Given the description of an element on the screen output the (x, y) to click on. 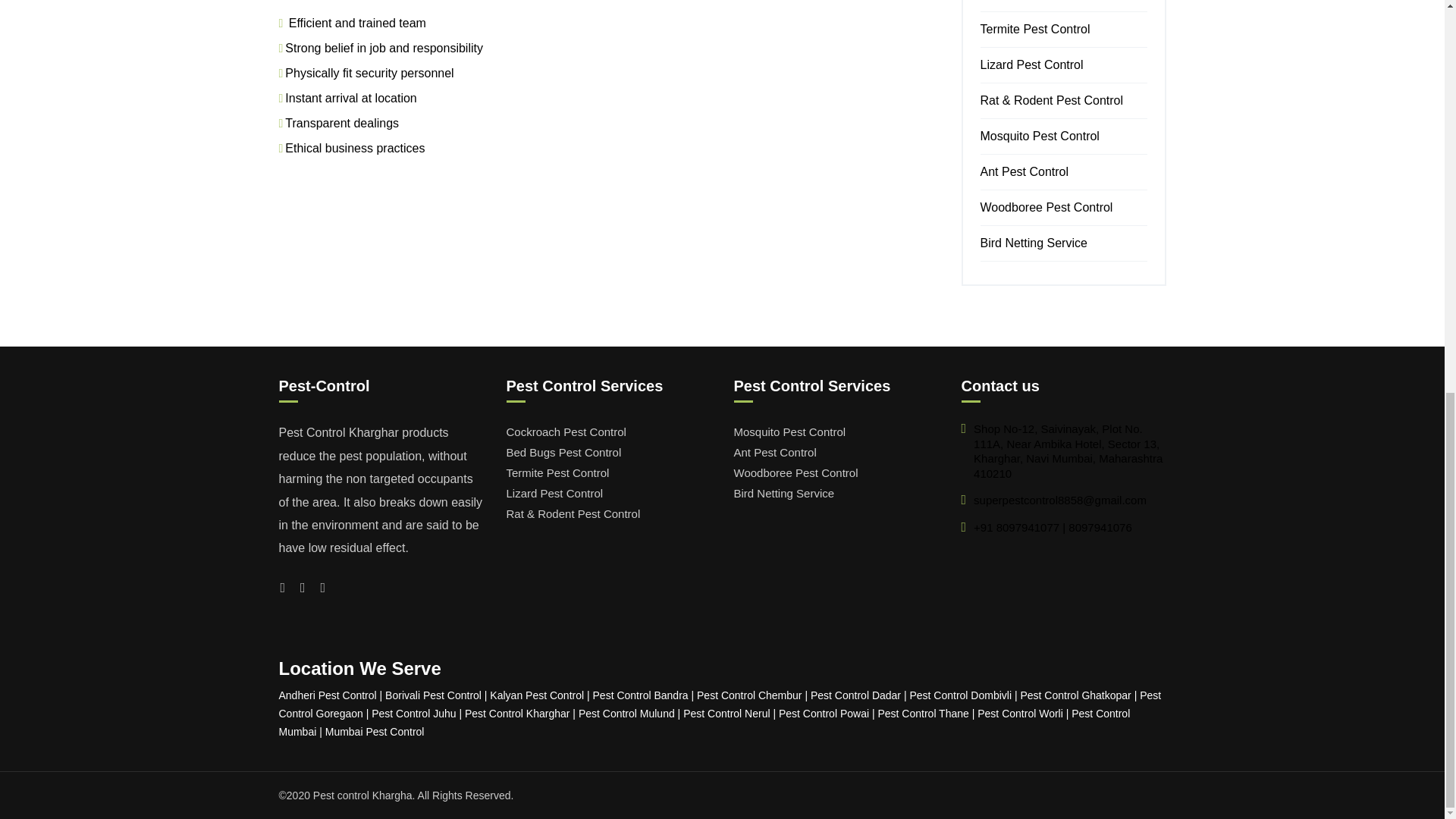
Lizard Pest Control (608, 493)
Termite Pest Control (608, 472)
Mosquito Pest Control (1039, 135)
Cockroach Pest Control (608, 431)
Termite Pest Control (1034, 29)
Ant Pest Control (1023, 171)
Bird Netting Service (1032, 242)
Lizard Pest Control (1031, 64)
Woodboree Pest Control (1045, 206)
Bed Bugs Pest Control (608, 452)
